Given the description of an element on the screen output the (x, y) to click on. 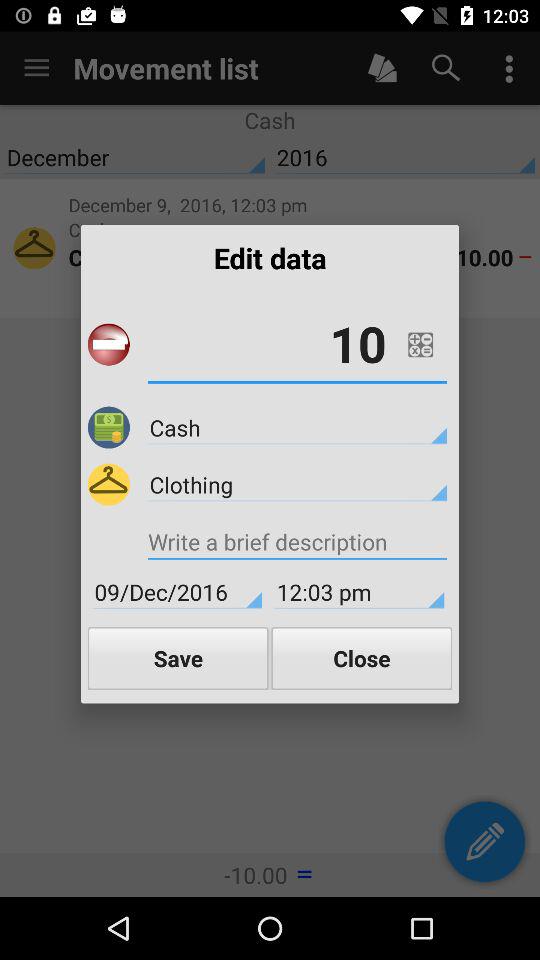
press the close item (361, 658)
